Given the description of an element on the screen output the (x, y) to click on. 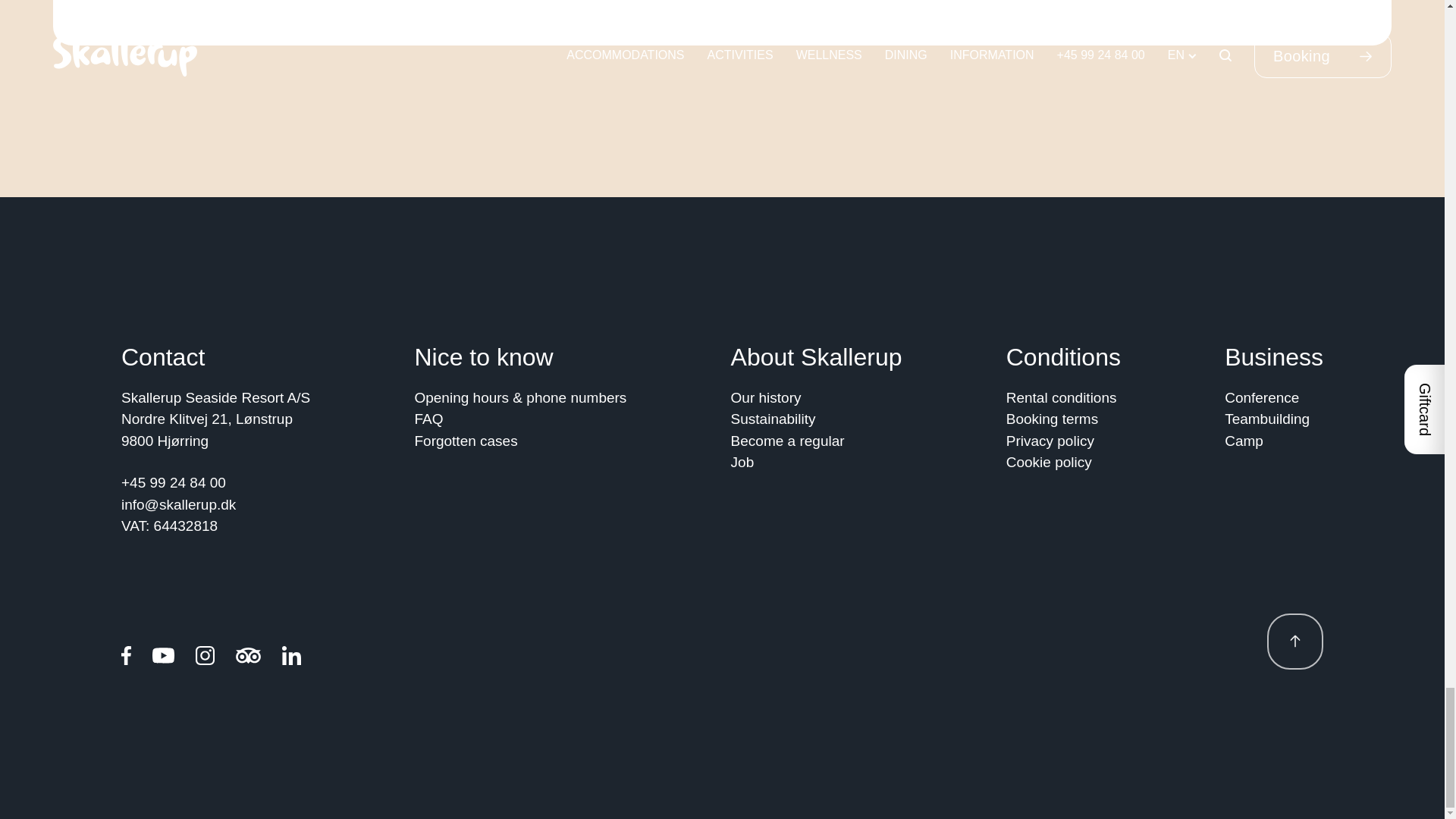
Rental conditions (1061, 398)
Booking terms (1051, 419)
Our history (766, 398)
Forgotten cases (464, 441)
FAQ (427, 419)
Cookie policy (1049, 463)
Privacy policy (1050, 441)
FAQ (427, 419)
Teambuilding (1266, 419)
Camp (1243, 441)
